Given the description of an element on the screen output the (x, y) to click on. 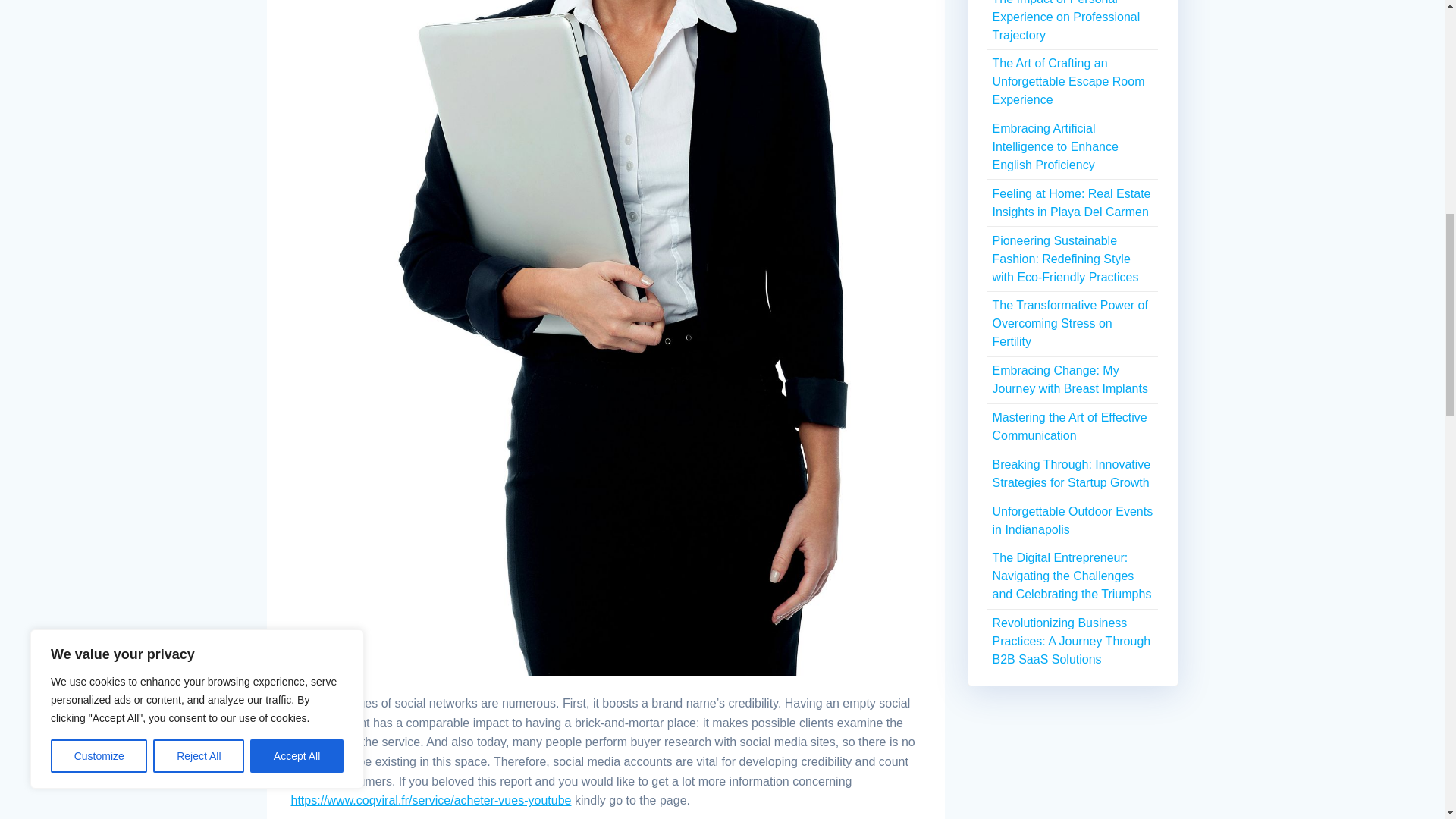
The Art of Crafting an Unforgettable Escape Room Experience (1067, 81)
The Impact of Personal Experience on Professional Trajectory (1065, 20)
